Given the description of an element on the screen output the (x, y) to click on. 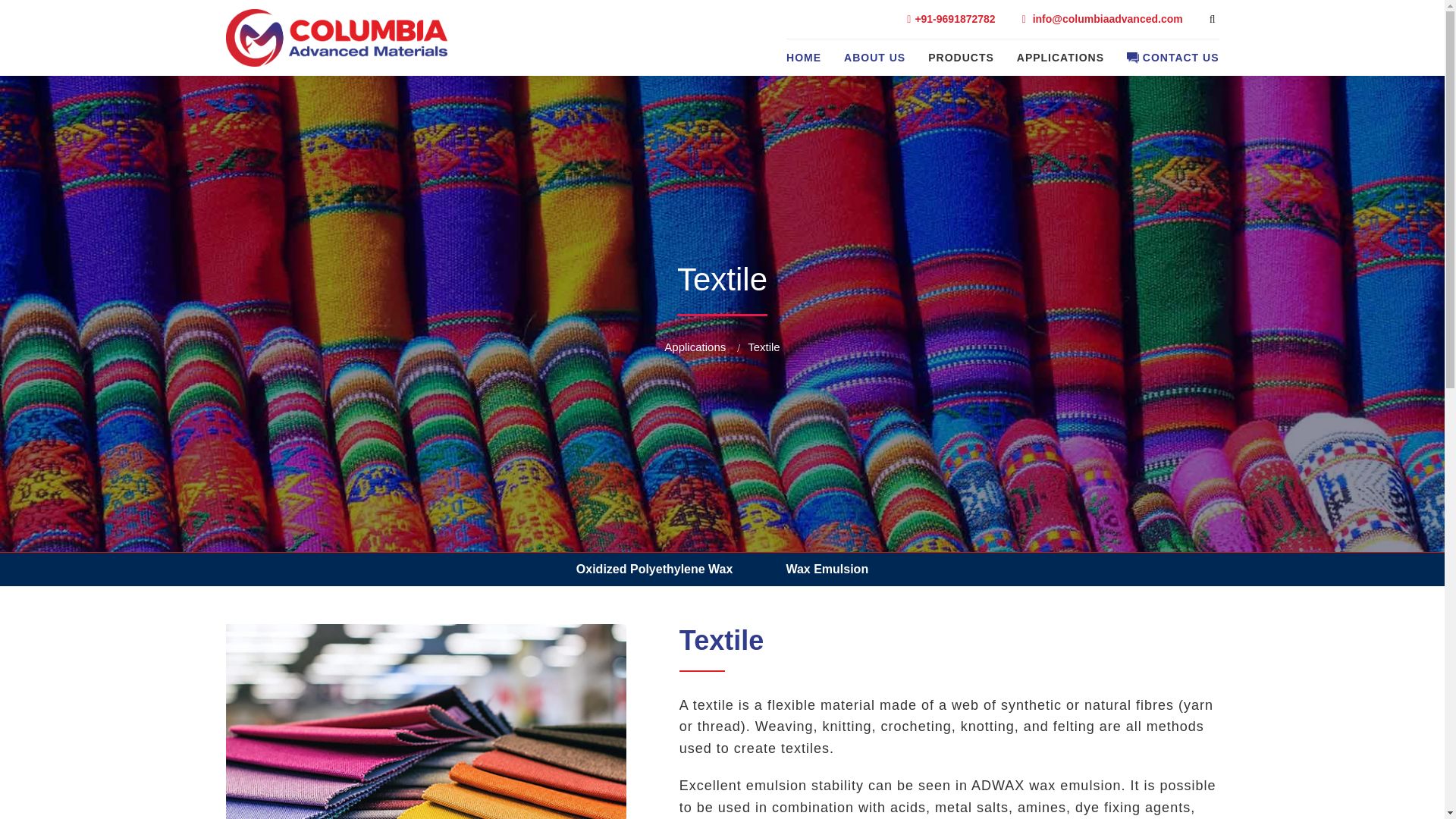
Oxidized Polyethylene Wax (655, 568)
PRODUCTS (961, 57)
Wax Emulsion (826, 568)
APPLICATIONS (1059, 57)
HOME (803, 57)
ABOUT US (874, 57)
Applications (694, 346)
CONTACT US (1173, 57)
